Given the description of an element on the screen output the (x, y) to click on. 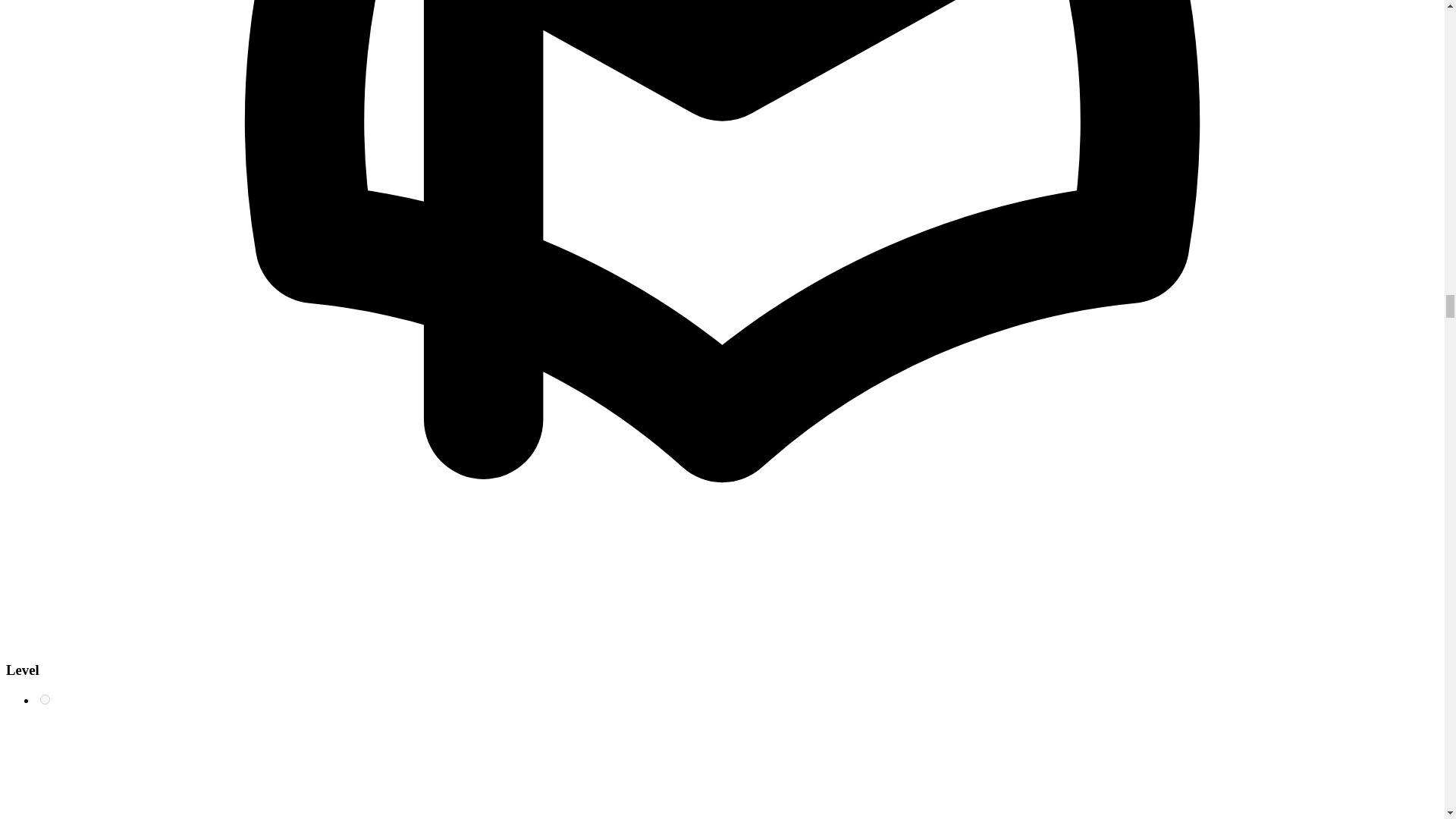
3 (44, 699)
